Given the description of an element on the screen output the (x, y) to click on. 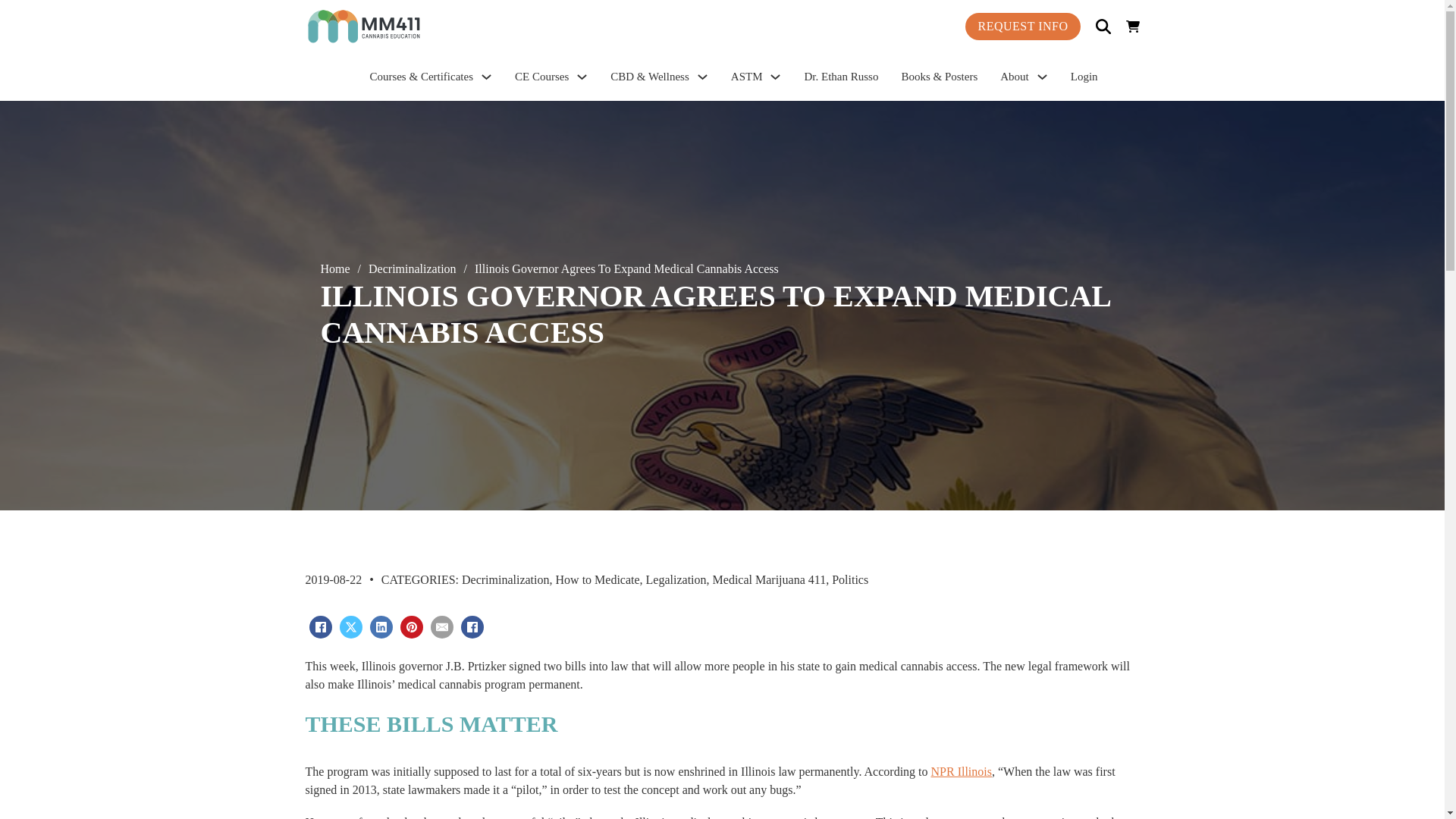
CE Courses (542, 76)
REQUEST INFO (1022, 26)
MM411 Logo (408, 26)
ASTM (746, 76)
